Given the description of an element on the screen output the (x, y) to click on. 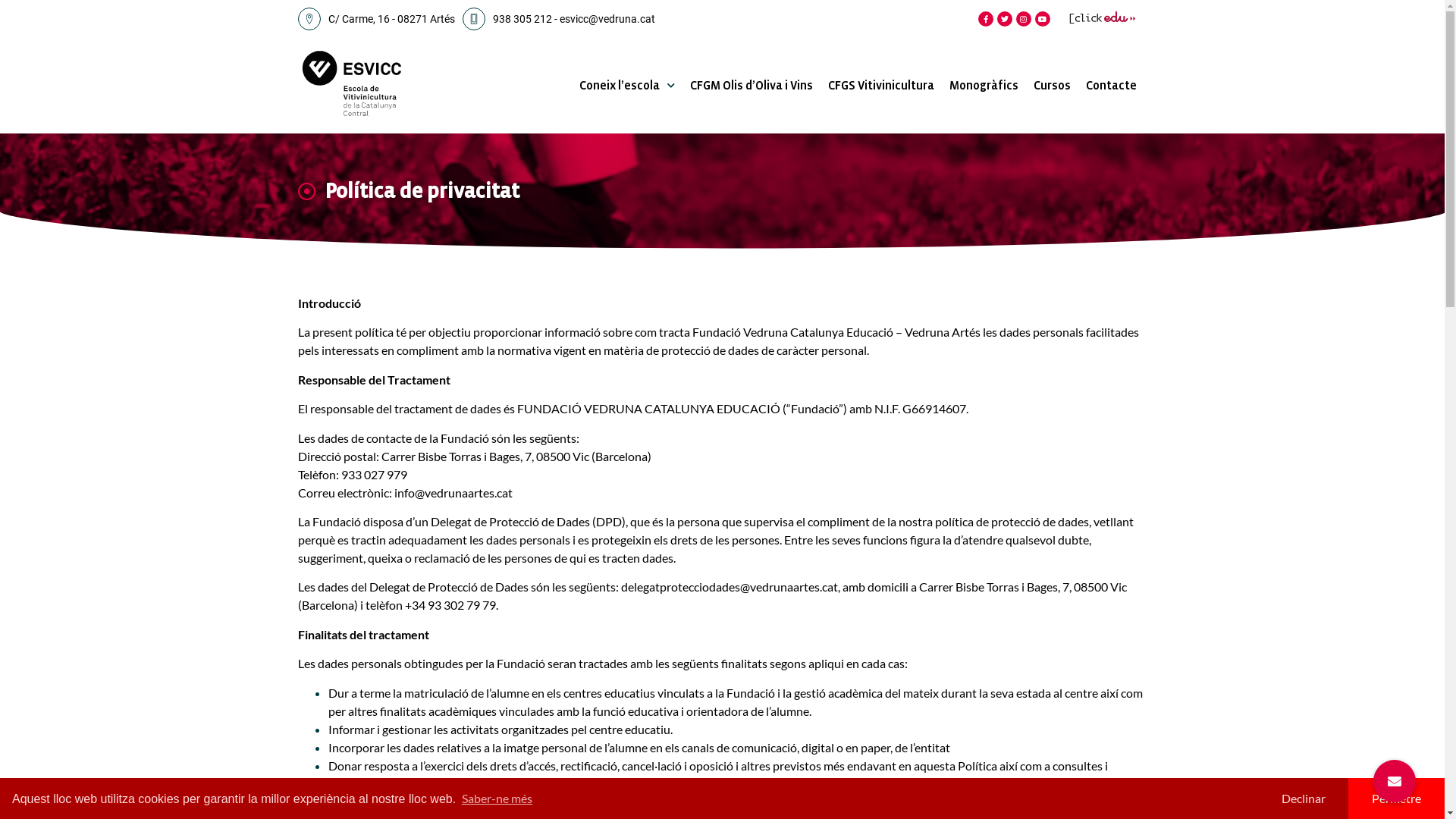
Contacte Element type: text (1111, 85)
Cursos Element type: text (1052, 85)
CFGS Vitivinicultura Element type: text (880, 85)
